Given the description of an element on the screen output the (x, y) to click on. 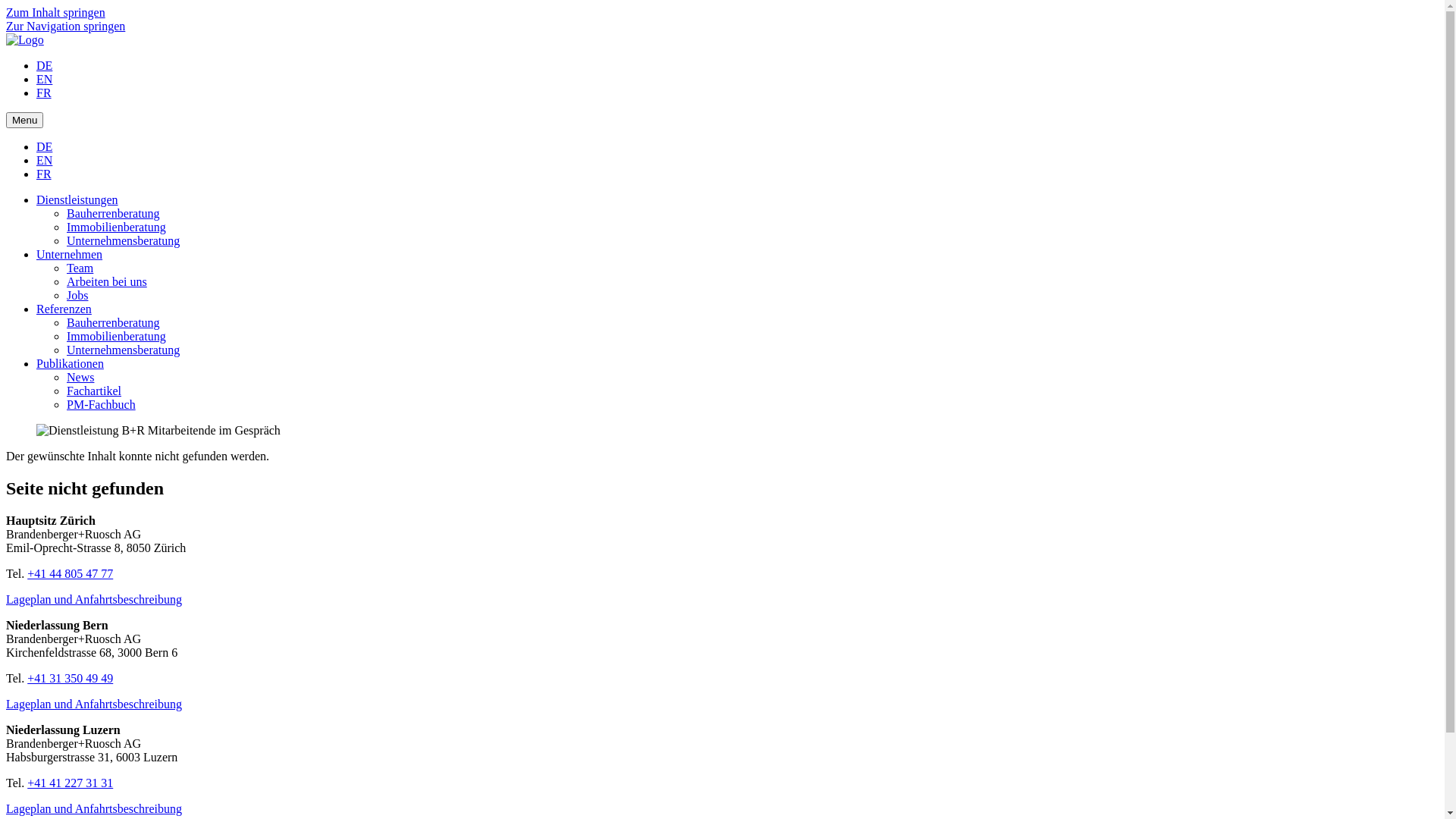
+41 41 227 31 31 Element type: text (69, 782)
Arbeiten bei uns Element type: text (106, 281)
Menu Element type: text (24, 120)
Fachartikel Element type: text (93, 390)
EN Element type: text (44, 159)
FR Element type: text (43, 92)
Dienstleistungen Element type: text (77, 199)
DE Element type: text (44, 65)
Zum Inhalt springen Element type: text (55, 12)
Unternehmensberatung Element type: text (122, 240)
Bauherrenberatung Element type: text (113, 322)
Zur Navigation springen Element type: text (65, 25)
Publikationen Element type: text (69, 363)
PM-Fachbuch Element type: text (100, 404)
Team Element type: text (79, 267)
FR Element type: text (43, 173)
Unternehmen Element type: text (69, 253)
Referenzen Element type: text (63, 308)
+41 44 805 47 77 Element type: text (69, 573)
Lageplan und Anfahrtsbeschreibung Element type: text (94, 599)
Lageplan und Anfahrtsbeschreibung Element type: text (94, 808)
Jobs Element type: text (76, 294)
Unternehmensberatung Element type: text (122, 349)
Immobilienberatung Element type: text (116, 335)
Immobilienberatung Element type: text (116, 226)
DE Element type: text (44, 146)
EN Element type: text (44, 78)
Bauherrenberatung Element type: text (113, 213)
+41 31 350 49 49 Element type: text (69, 677)
Lageplan und Anfahrtsbeschreibung Element type: text (94, 703)
News Element type: text (80, 376)
